Given the description of an element on the screen output the (x, y) to click on. 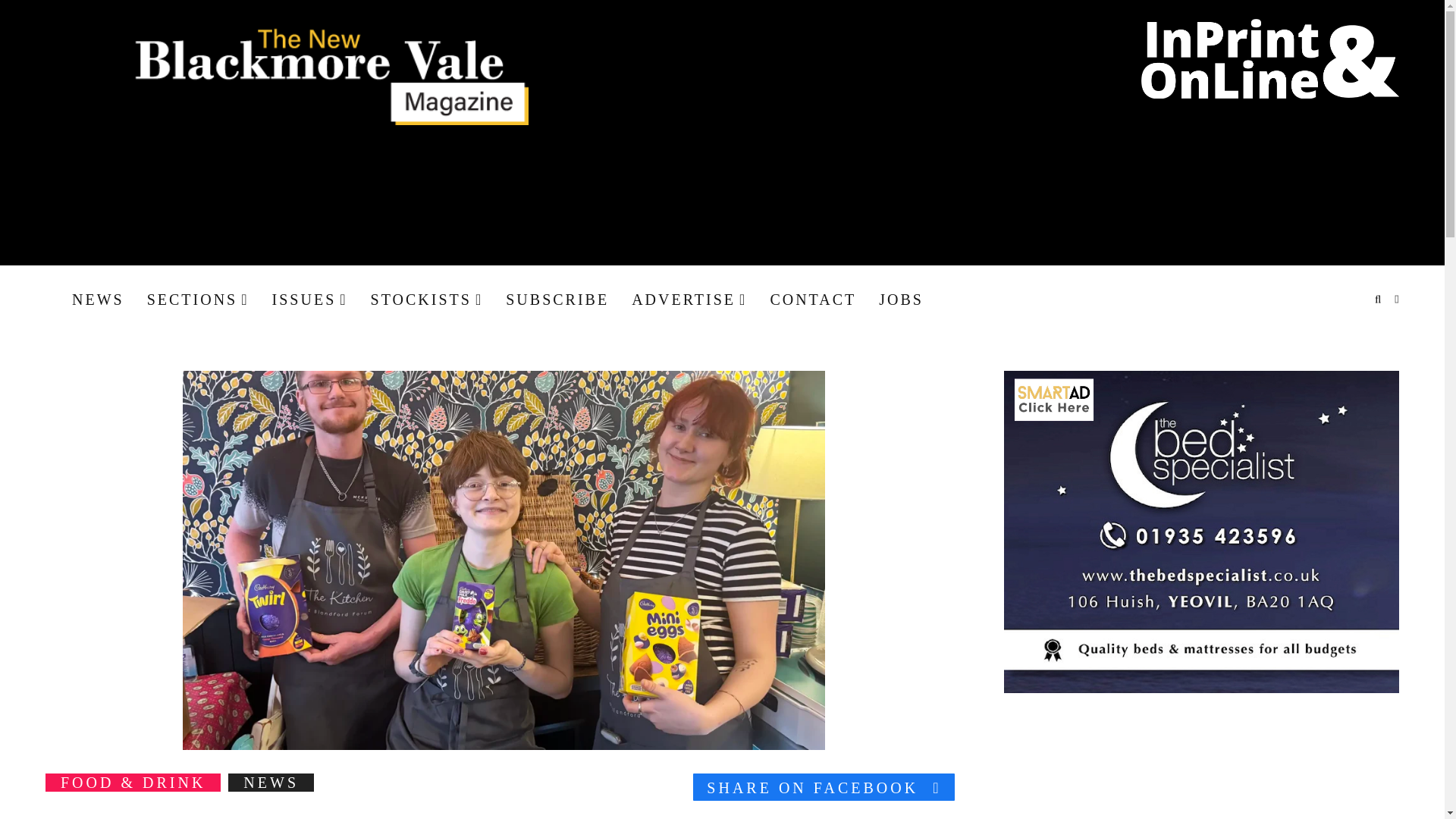
SUBSCRIBE (556, 299)
STOCKISTS (427, 299)
ISSUES (309, 299)
NEWS (97, 299)
ADVERTISE (688, 299)
SECTIONS (197, 299)
